Given the description of an element on the screen output the (x, y) to click on. 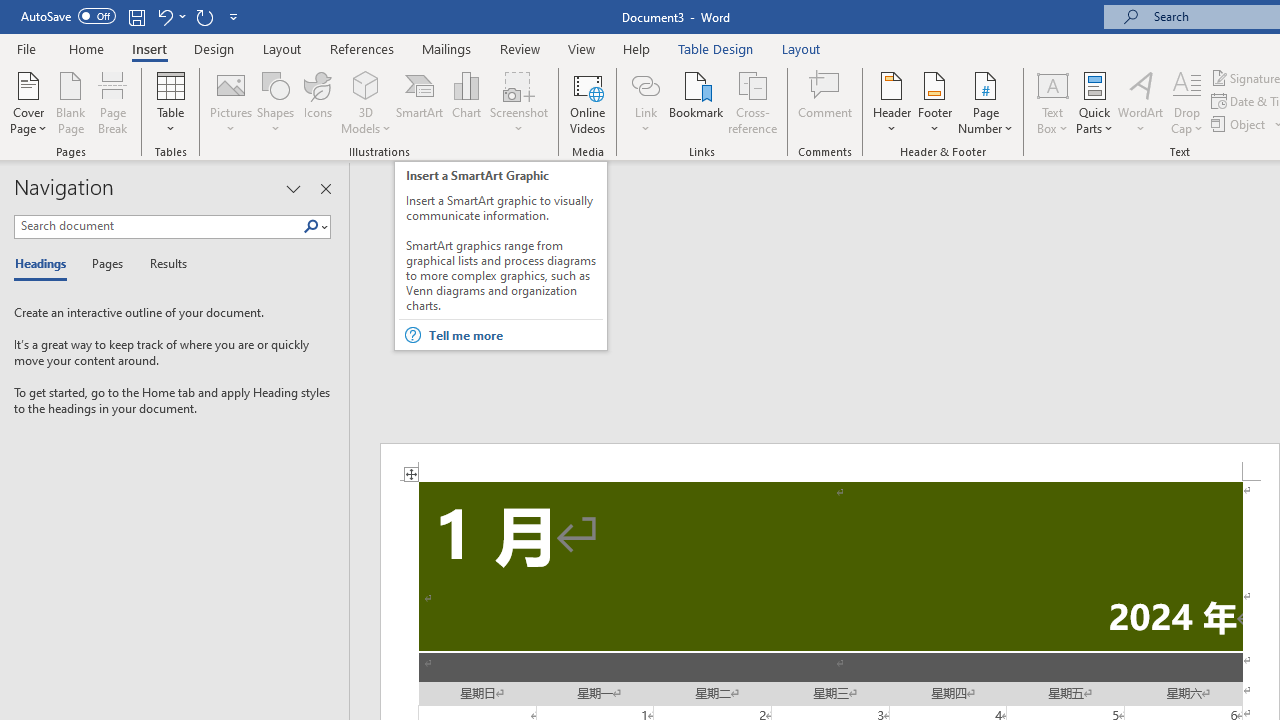
Cover Page (28, 102)
Quick Parts (1094, 102)
Footer (934, 102)
Online Videos... (588, 102)
WordArt (1141, 102)
